Given the description of an element on the screen output the (x, y) to click on. 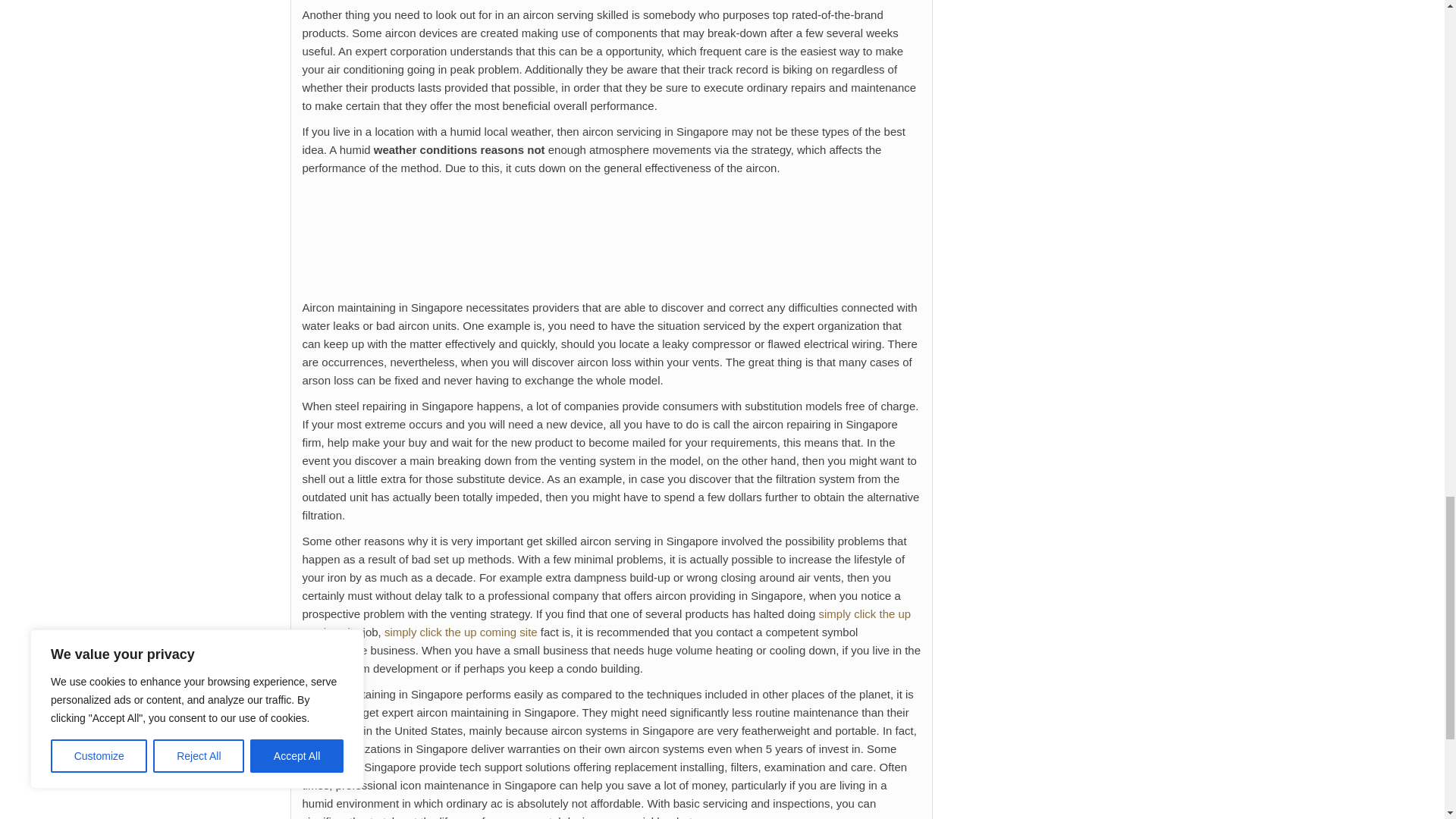
simply click the up coming site (460, 631)
simply click the up coming site (606, 622)
